Given the description of an element on the screen output the (x, y) to click on. 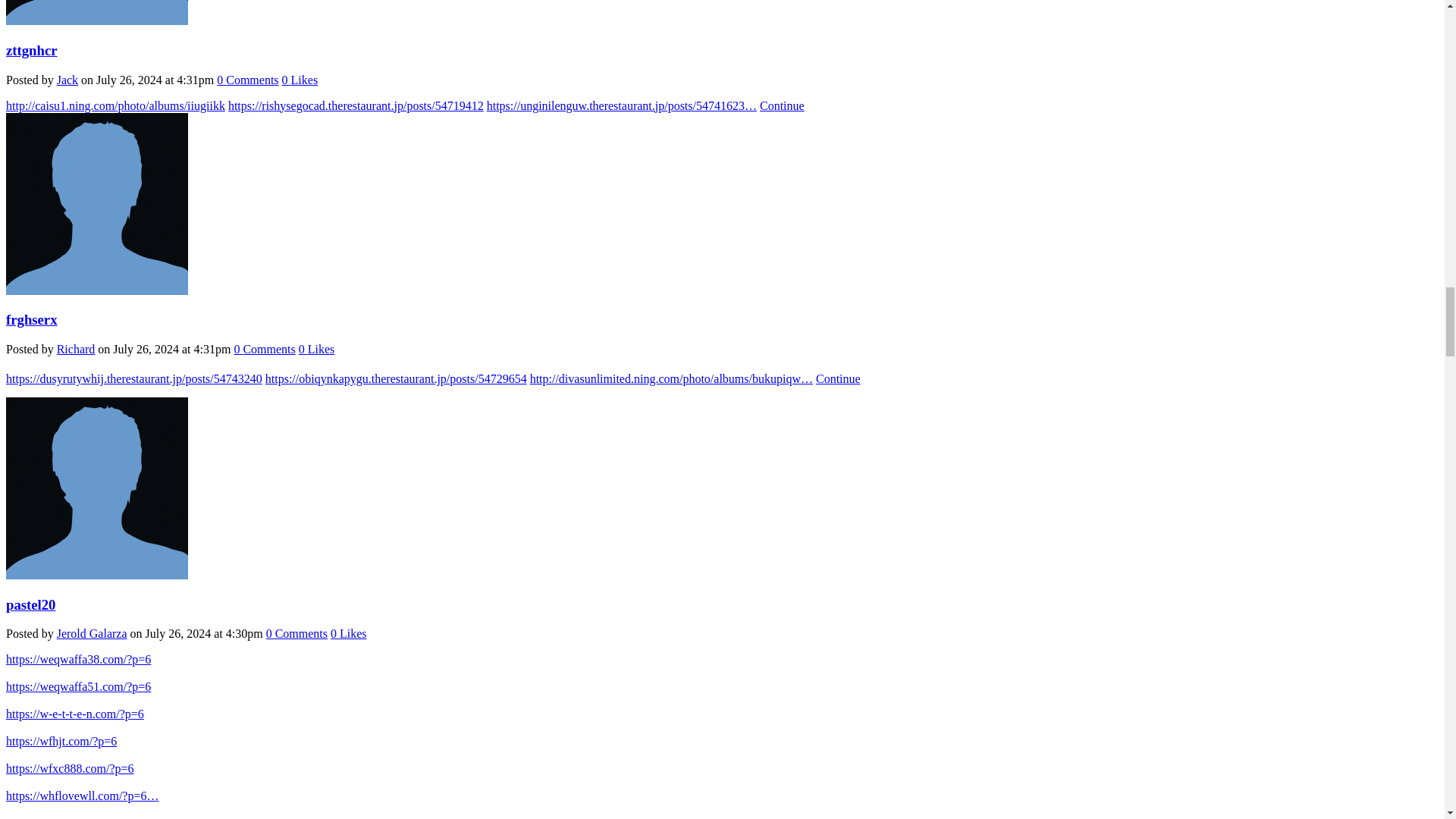
Jack (67, 79)
0 Comments (247, 79)
Richard (96, 290)
0 Likes (300, 79)
zttgnhcr (31, 50)
Jack (96, 20)
